Given the description of an element on the screen output the (x, y) to click on. 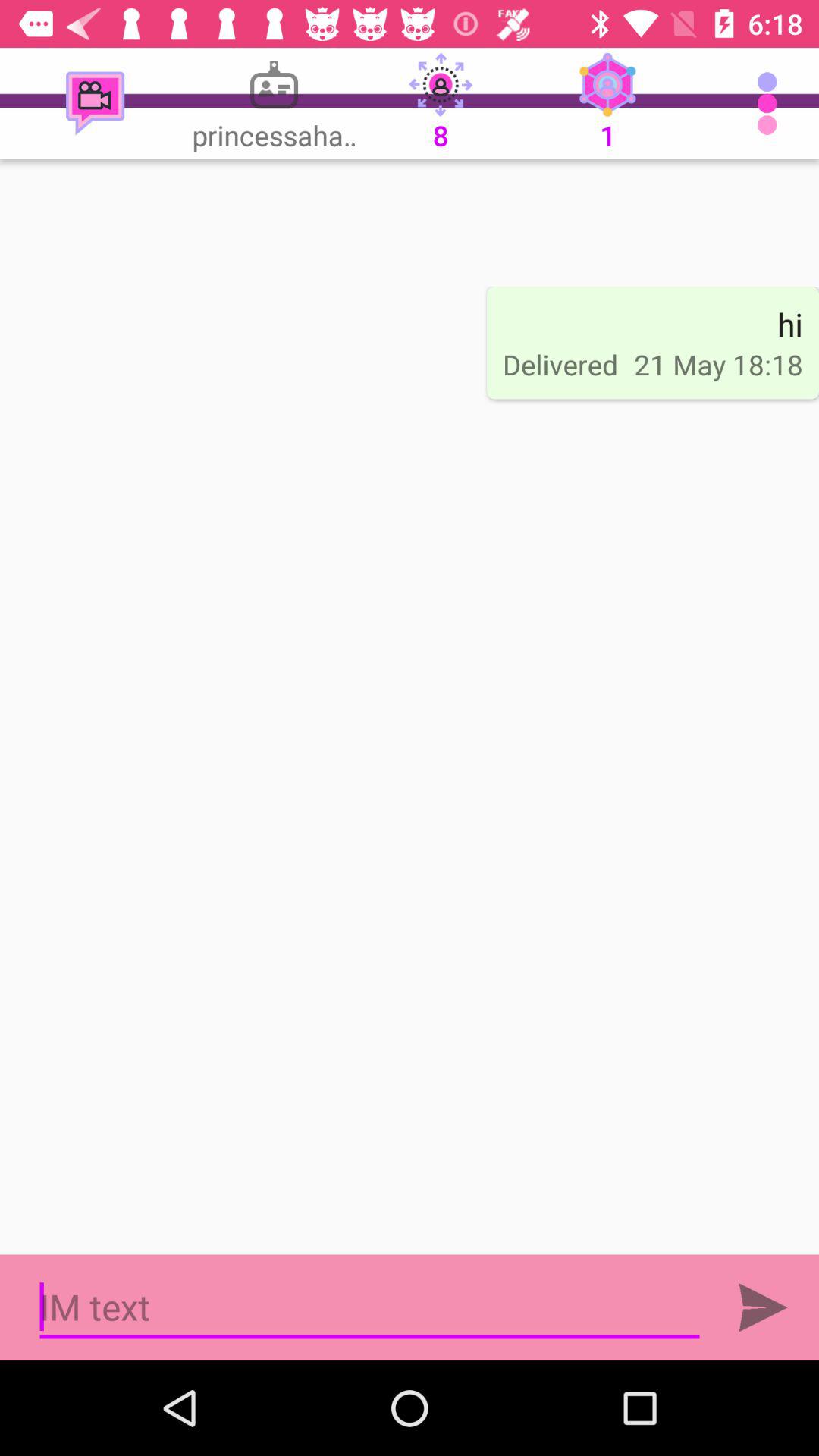
write message (369, 1307)
